Given the description of an element on the screen output the (x, y) to click on. 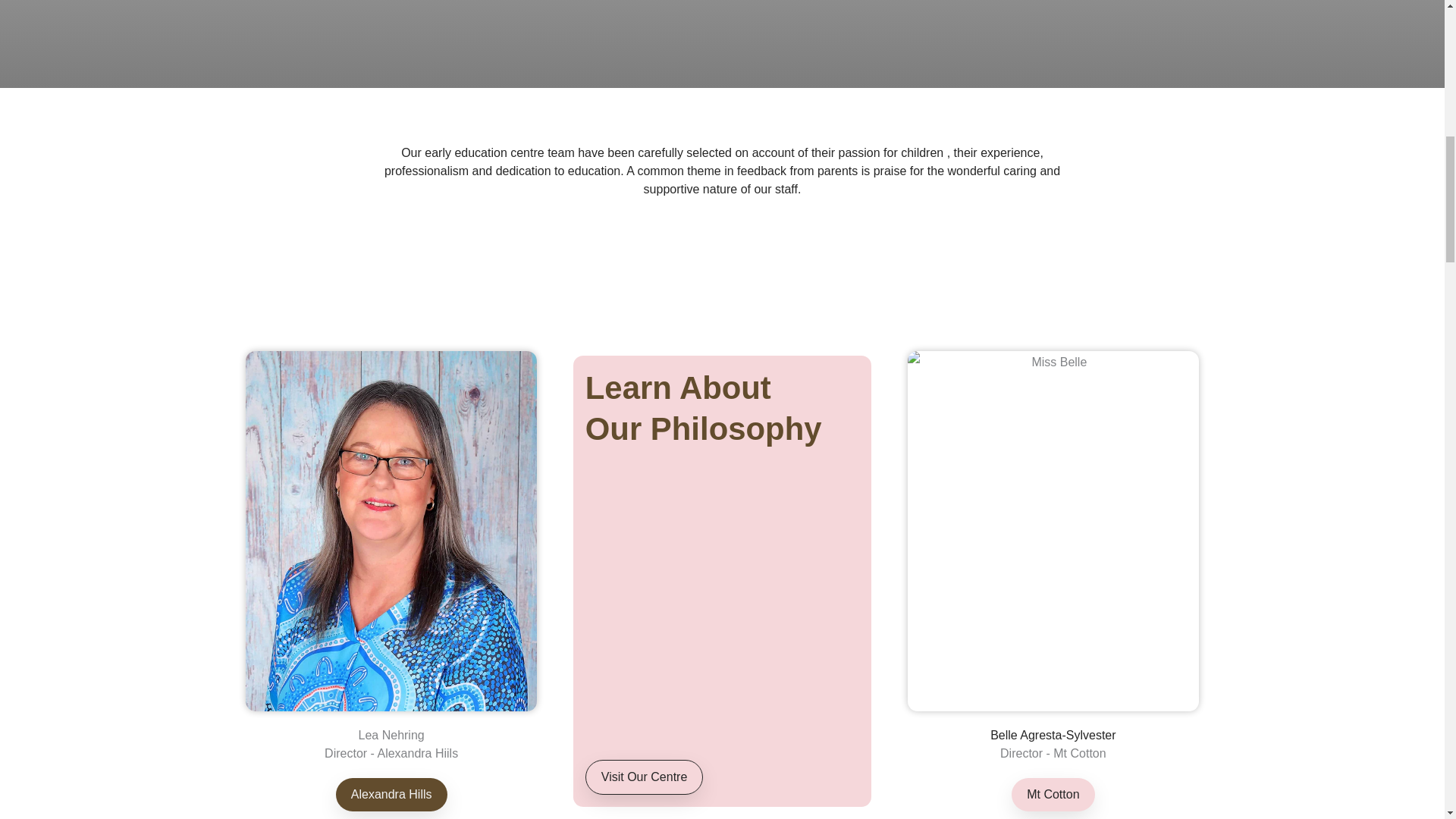
Visit Our Centre (644, 777)
Alexandra Hills (703, 408)
Mt Cotton (391, 794)
